Given the description of an element on the screen output the (x, y) to click on. 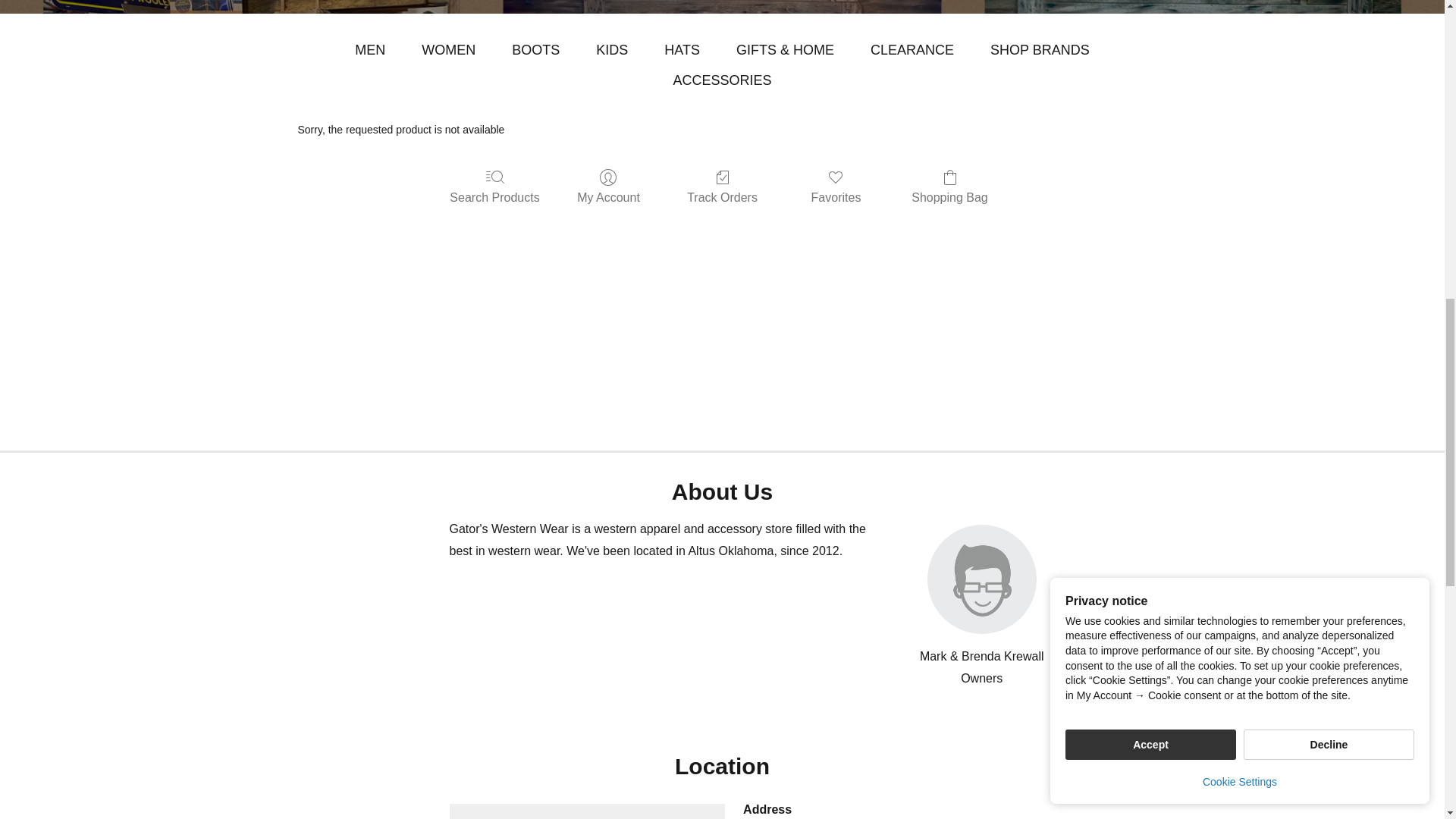
CLEARANCE (911, 49)
HATS (681, 49)
KIDS (611, 49)
ACCESSORIES (721, 79)
Track Orders (722, 186)
Favorites (836, 186)
Search Products (494, 186)
BOOTS (535, 49)
MEN (370, 49)
Location on map (586, 811)
My Account (608, 186)
SHOP BRANDS (1039, 49)
WOMEN (449, 49)
